Given the description of an element on the screen output the (x, y) to click on. 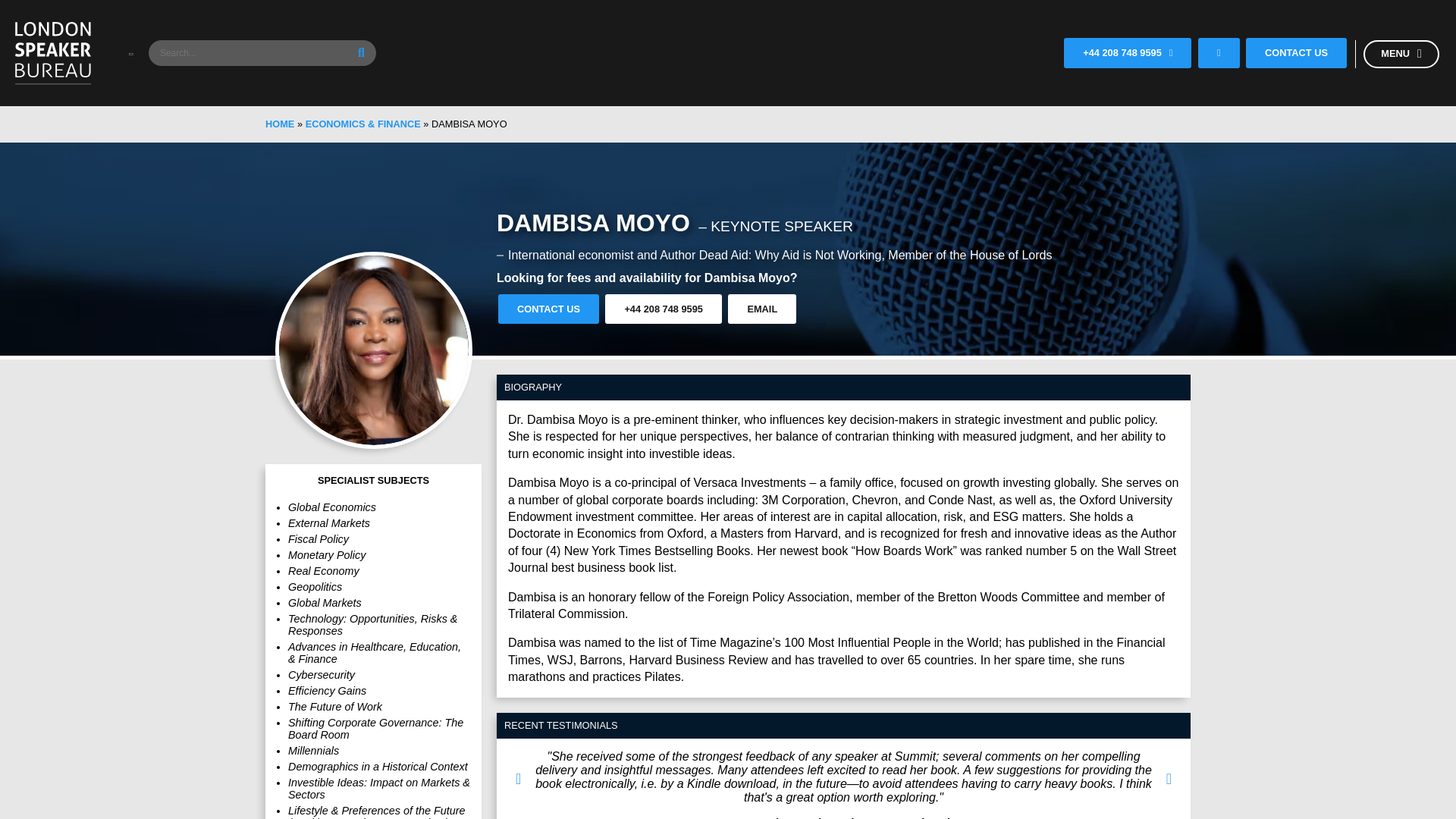
EMAIL (762, 308)
HOME (279, 123)
Next (1168, 784)
Search for: (261, 53)
CONTACT US (1296, 52)
Email us (1219, 52)
CONTACT US (547, 308)
Call us (1171, 52)
Previous (518, 784)
